Given the description of an element on the screen output the (x, y) to click on. 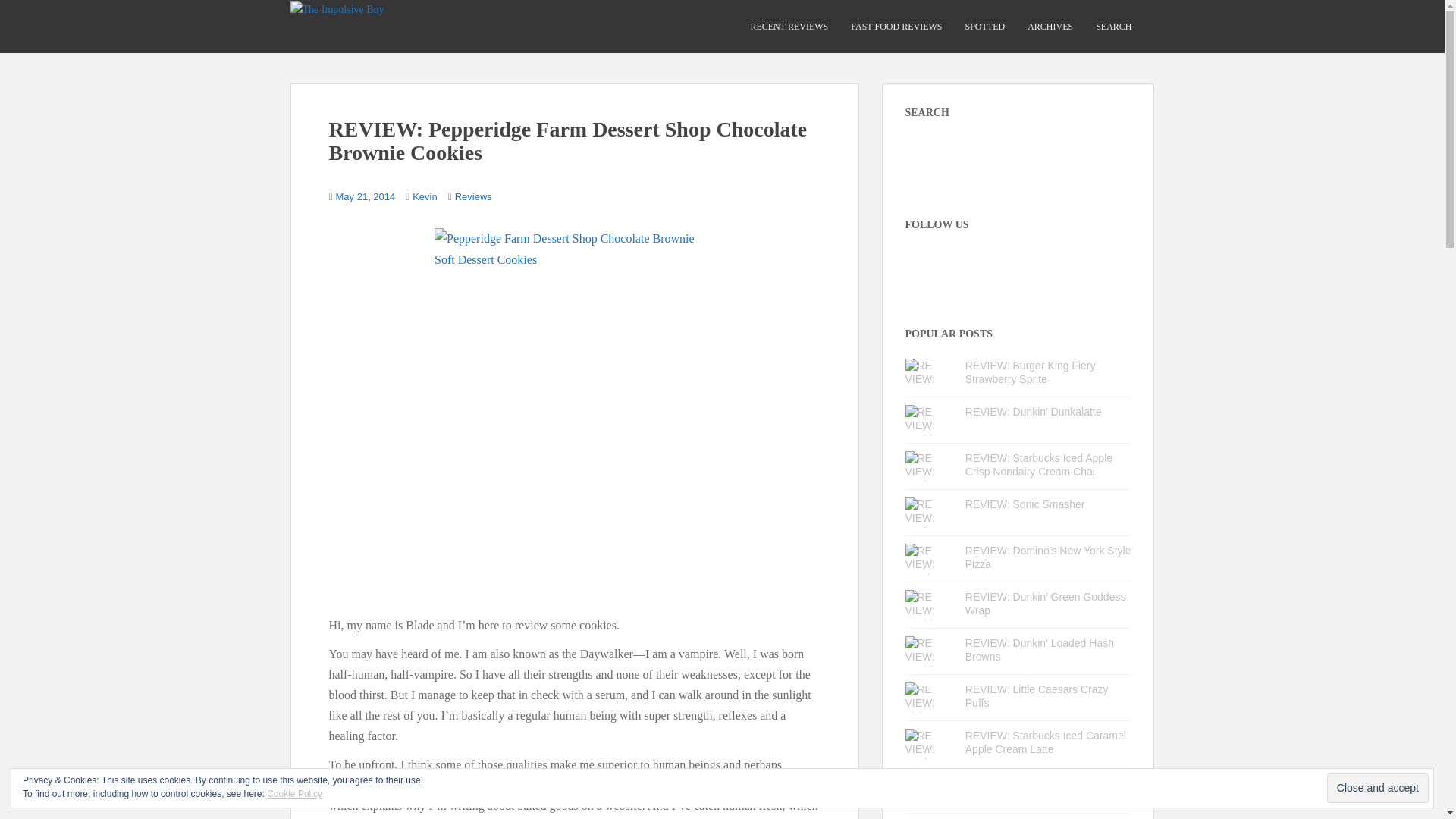
REVIEW: Domino's New York Style Pizza (1048, 557)
REVIEW: Burger King Fiery Strawberry Sprite (1030, 371)
SEARCH (1113, 26)
Threads (971, 262)
Kevin (425, 196)
Reviews (473, 196)
RSS Feed (1053, 262)
Close and accept (1377, 788)
May 21, 2014 (366, 196)
ARCHIVES (1050, 26)
